Given the description of an element on the screen output the (x, y) to click on. 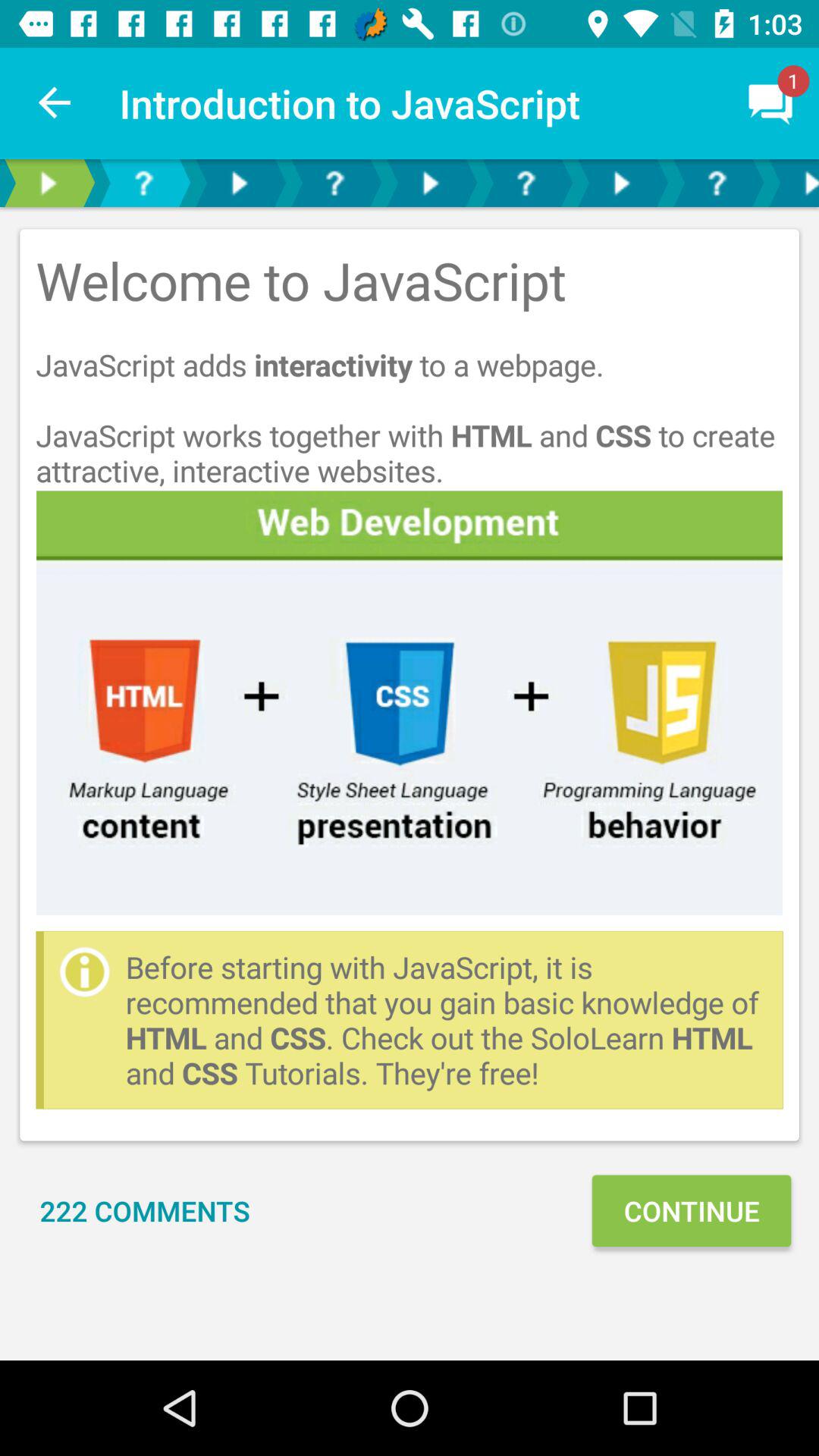
launch the continue at the bottom right corner (691, 1210)
